Given the description of an element on the screen output the (x, y) to click on. 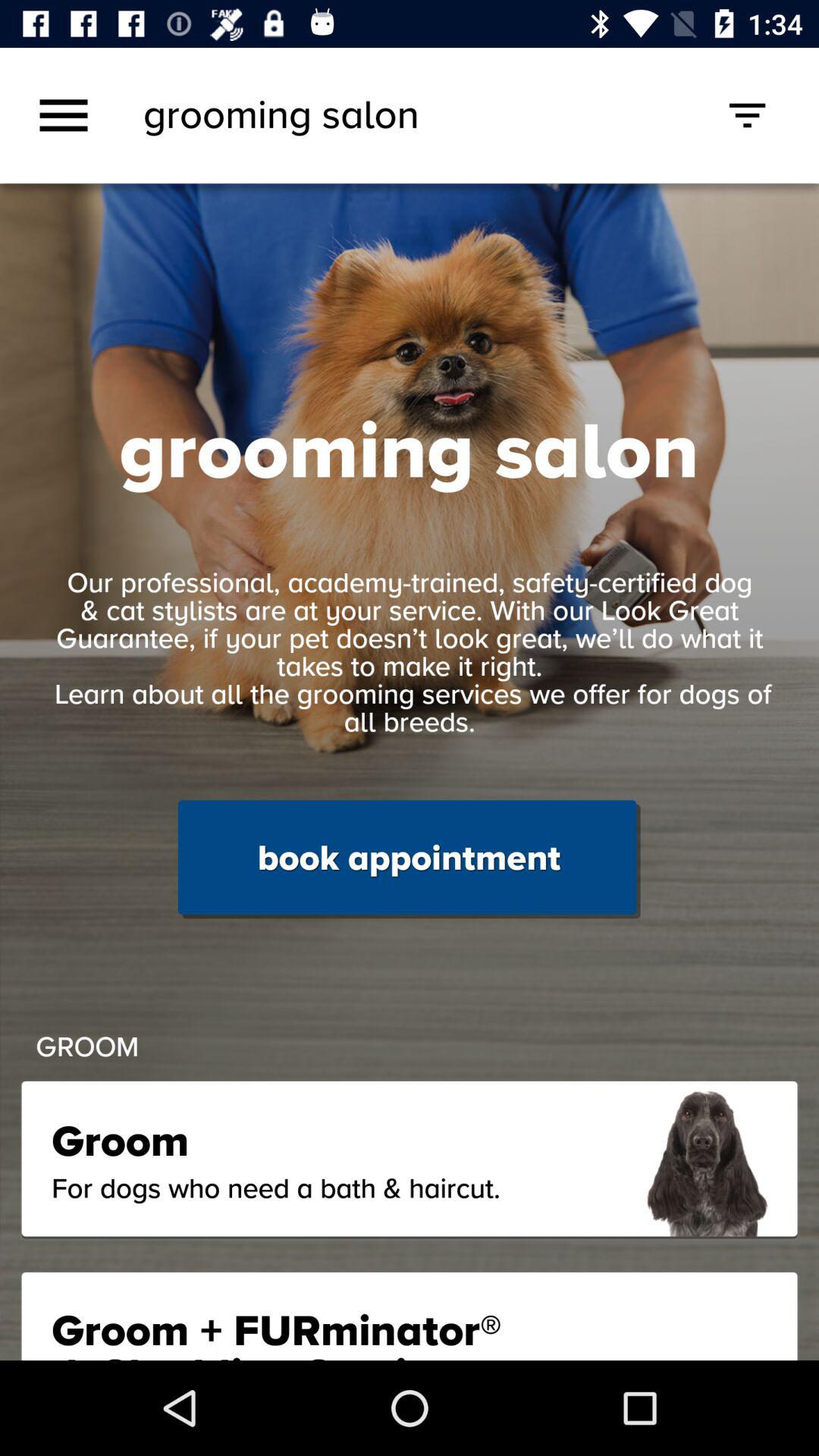
tap the item below our professional academy item (409, 859)
